Given the description of an element on the screen output the (x, y) to click on. 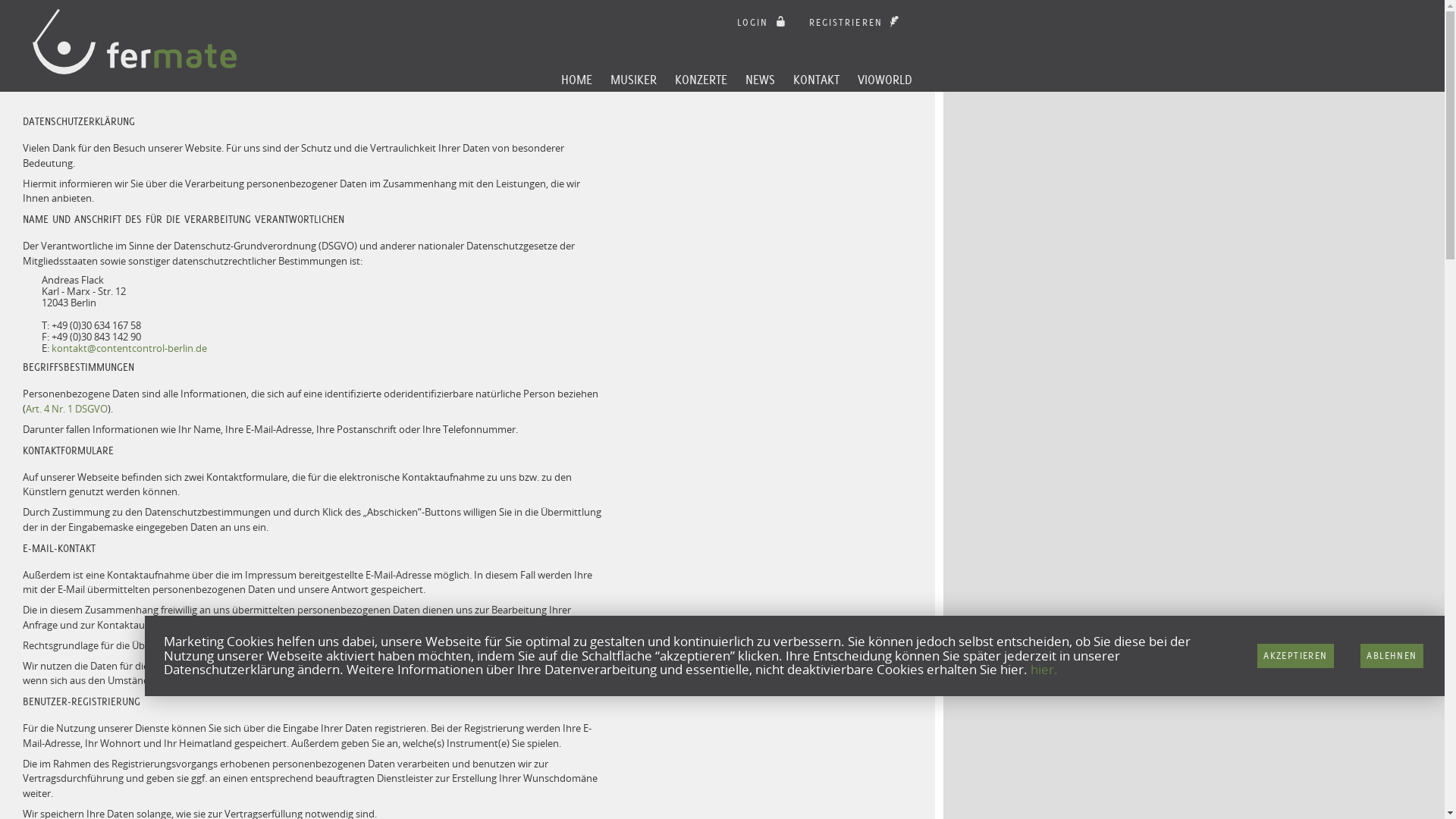
Art. 6 Abs. 1 lit. a DSGVO Element type: text (308, 645)
ABLEHNEN Element type: text (1391, 655)
MUSIKER Element type: text (633, 79)
AKZEPTIEREN Element type: text (1295, 655)
VIOWORLD Element type: text (884, 79)
REGISTRIEREN Element type: text (855, 21)
LOGIN Element type: text (762, 21)
NEWS Element type: text (760, 79)
KONTAKT Element type: text (816, 79)
Art. 4 Nr. 1 DSGVO Element type: text (66, 408)
HOME Element type: text (576, 79)
kontakt@contentcontrol-berlin.de Element type: text (129, 347)
KONZERTE Element type: text (700, 79)
